Given the description of an element on the screen output the (x, y) to click on. 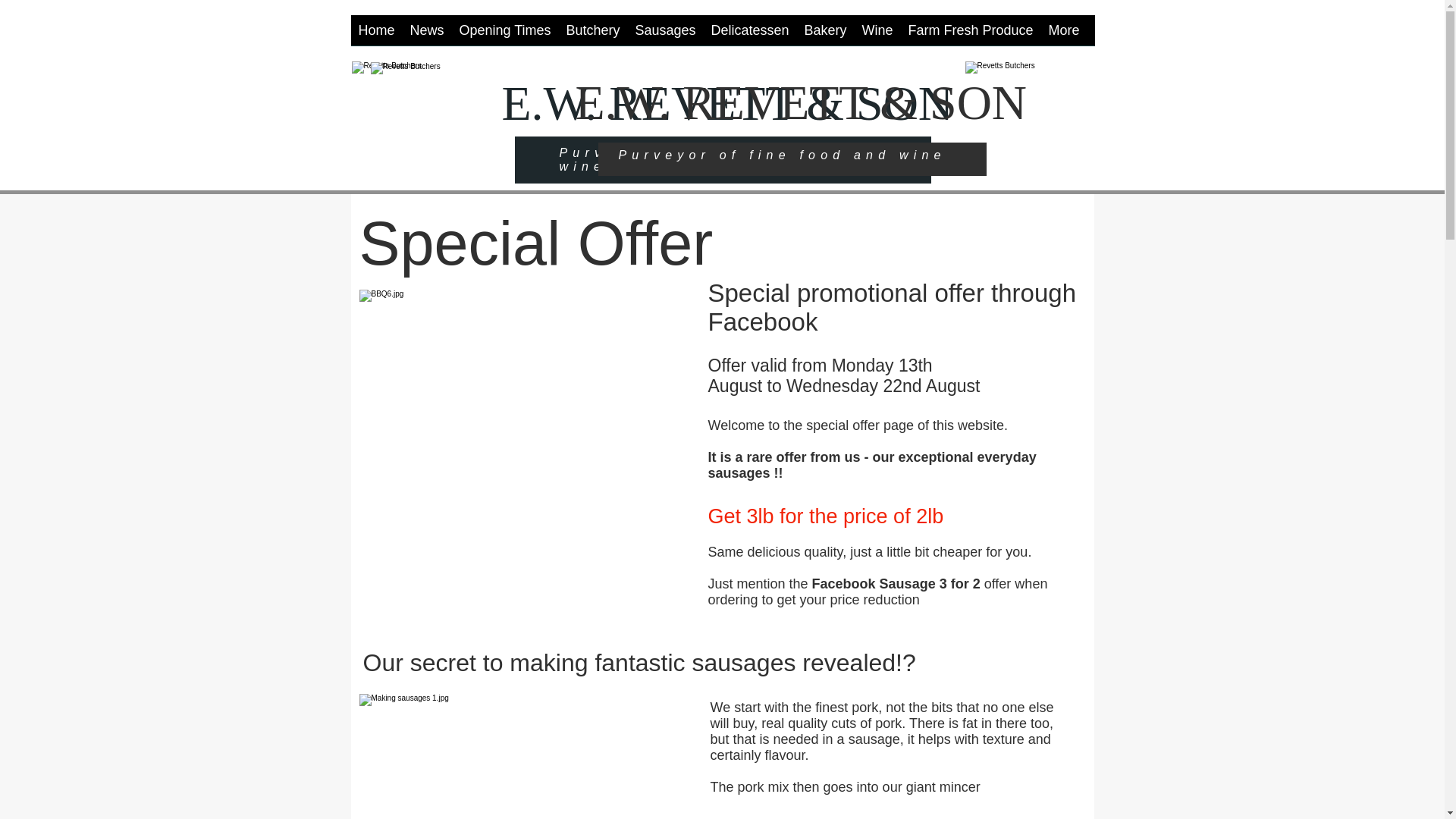
News (426, 35)
Sausages (665, 35)
The shop fron in Wickham Market (416, 105)
Butchery (592, 35)
Opening Times (505, 35)
Delicatessen (749, 35)
Home (375, 35)
Wine (876, 35)
The shop fron in Wickham Market (458, 123)
Purveyor of fine food and wine (695, 159)
